Given the description of an element on the screen output the (x, y) to click on. 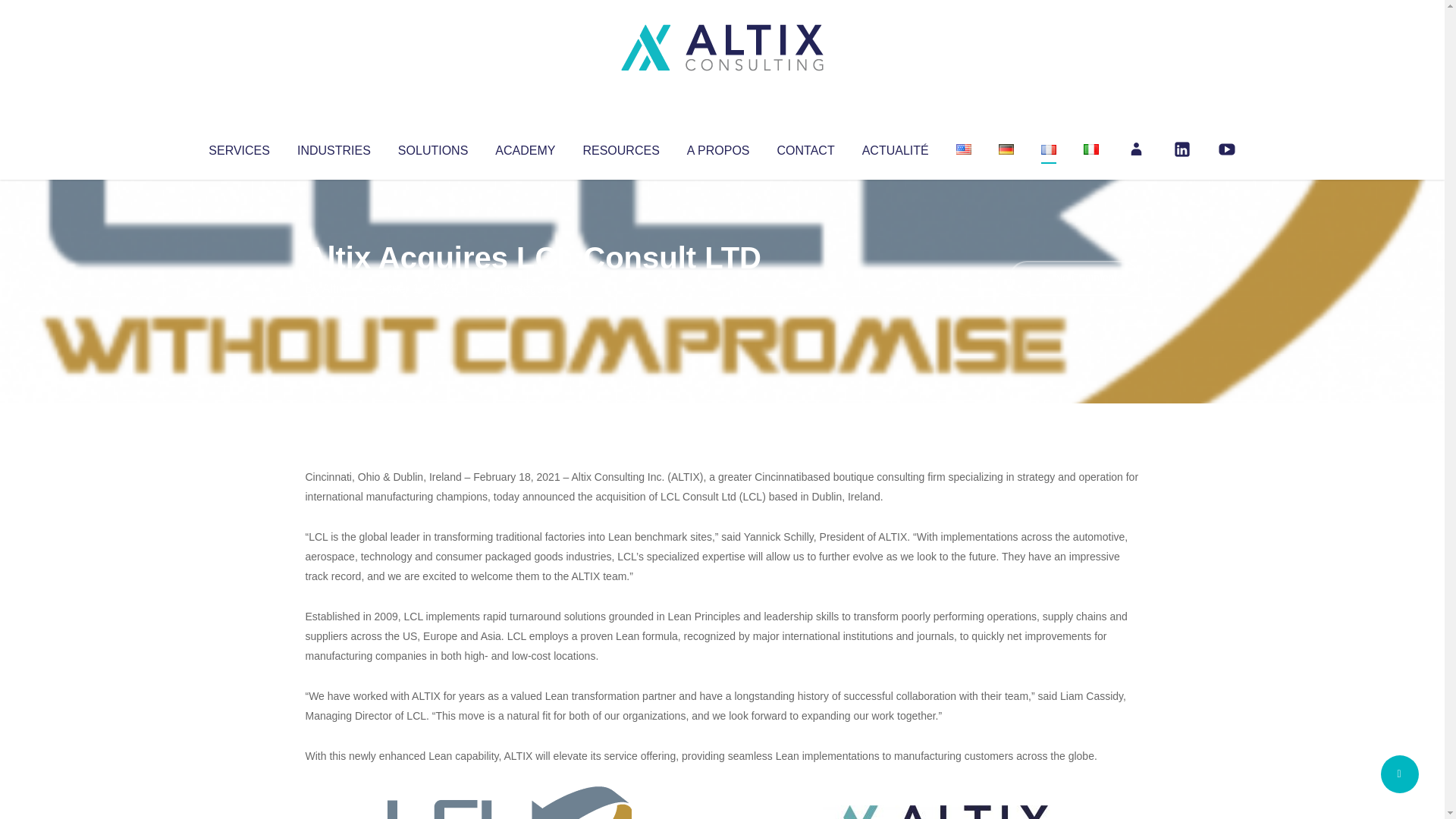
A PROPOS (718, 146)
Articles par Altix (333, 287)
SERVICES (238, 146)
Uncategorized (530, 287)
ACADEMY (524, 146)
No Comments (1073, 278)
RESOURCES (620, 146)
Altix (333, 287)
INDUSTRIES (334, 146)
SOLUTIONS (432, 146)
